Given the description of an element on the screen output the (x, y) to click on. 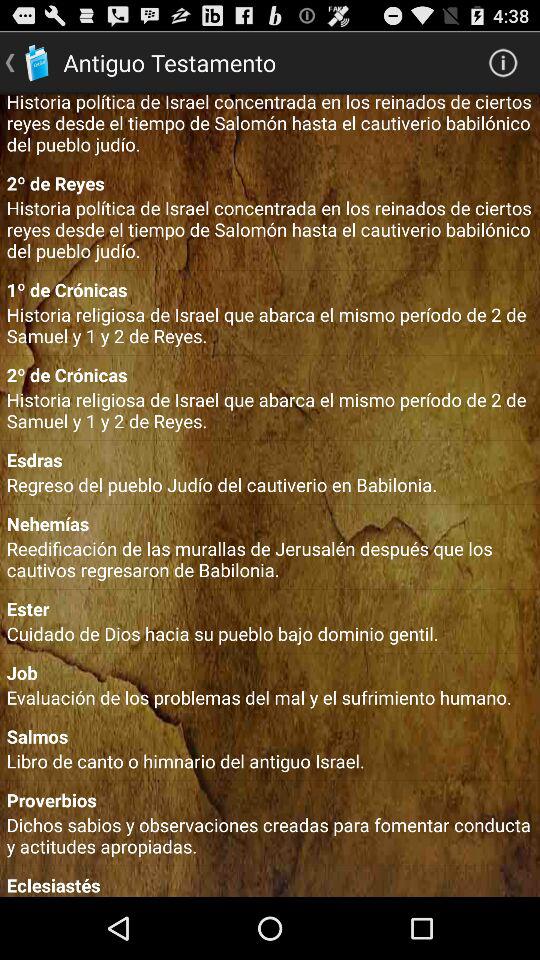
press the icon to the right of antiguo testamento (503, 62)
